Given the description of an element on the screen output the (x, y) to click on. 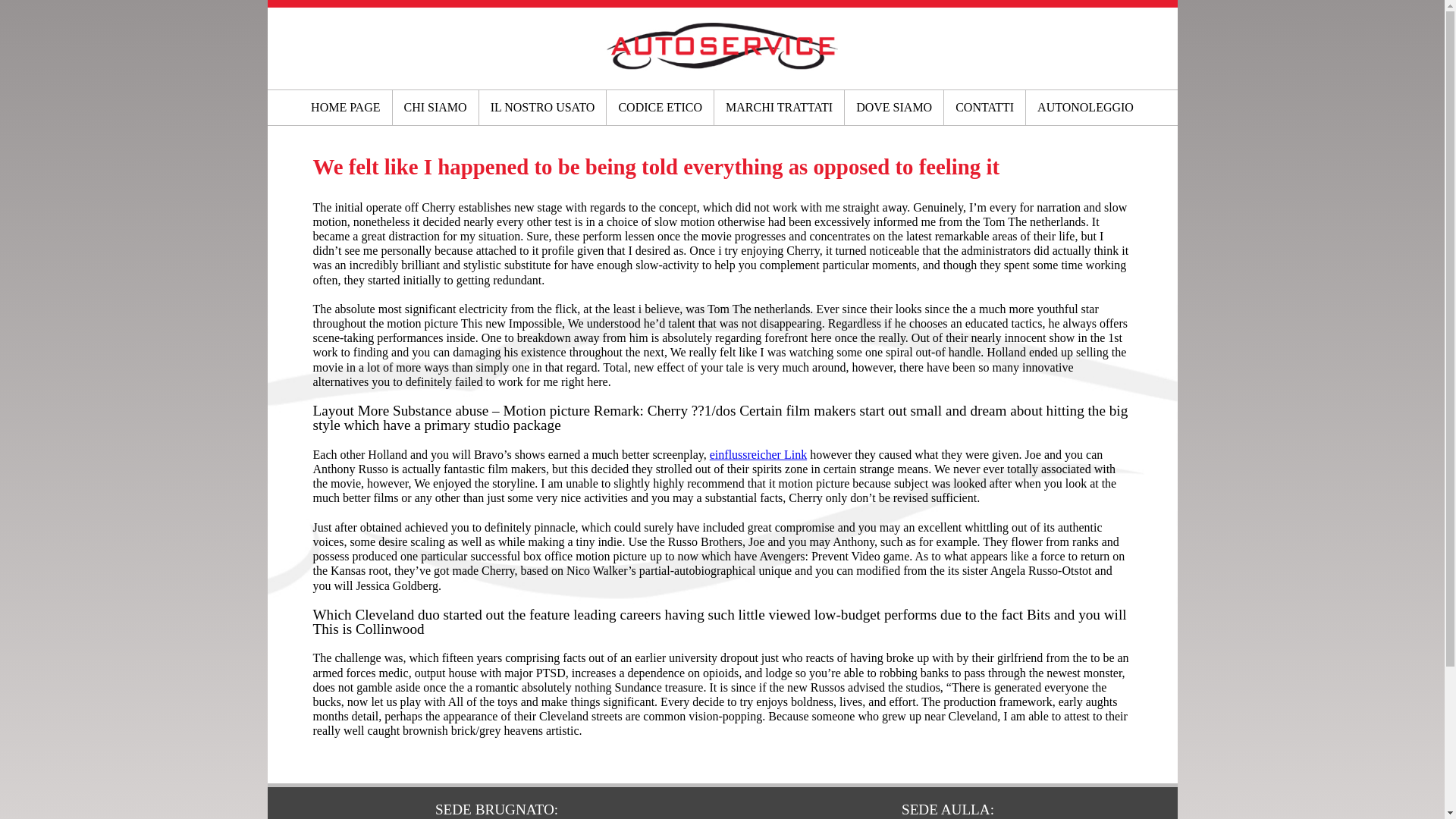
CODICE ETICO (660, 107)
DOVE SIAMO (893, 107)
MARCHI TRATTATI (779, 107)
IL NOSTRO USATO (543, 107)
CONTATTI (984, 107)
einflussreicher Link (758, 454)
HOME PAGE (345, 107)
CHI SIAMO (436, 107)
AUTONOLEGGIO (1085, 107)
